Given the description of an element on the screen output the (x, y) to click on. 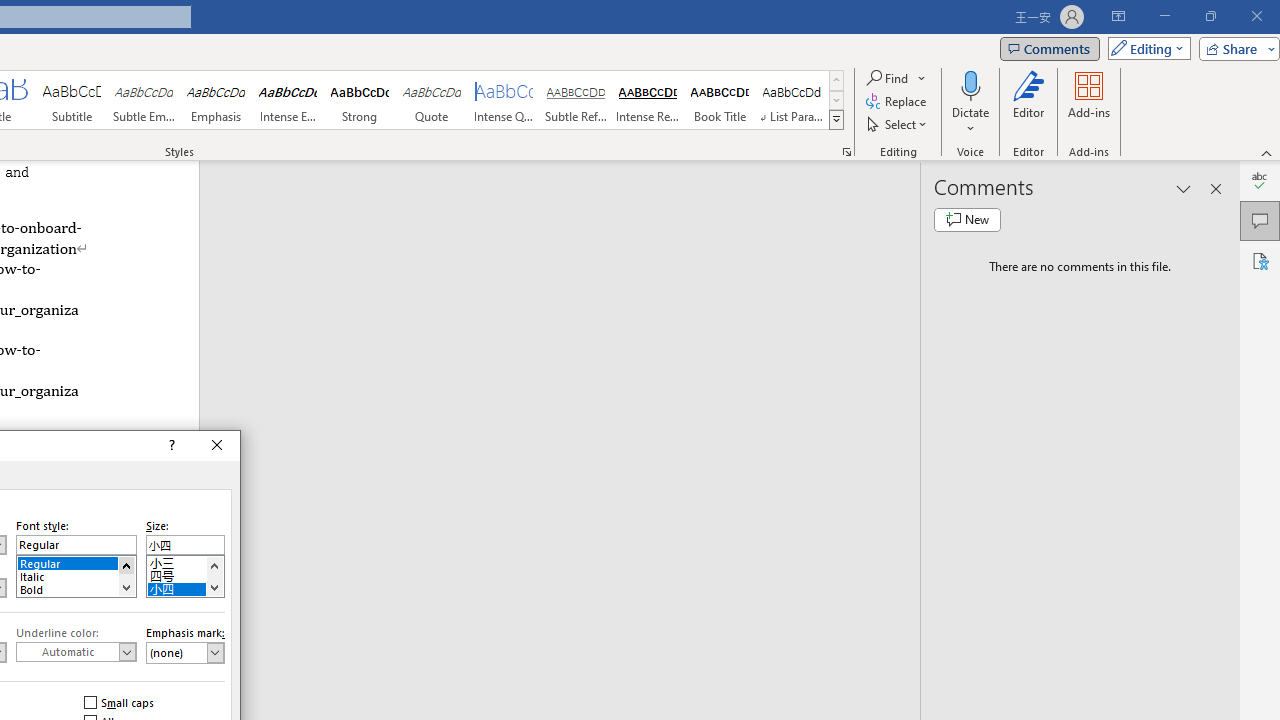
Subtitle (71, 100)
Bold (75, 587)
Emphasis mark: (185, 652)
Styles... (846, 151)
Context help (170, 445)
Subtle Emphasis (143, 100)
Editing (1144, 47)
New comment (967, 219)
Size: (185, 544)
Quote (431, 100)
